Given the description of an element on the screen output the (x, y) to click on. 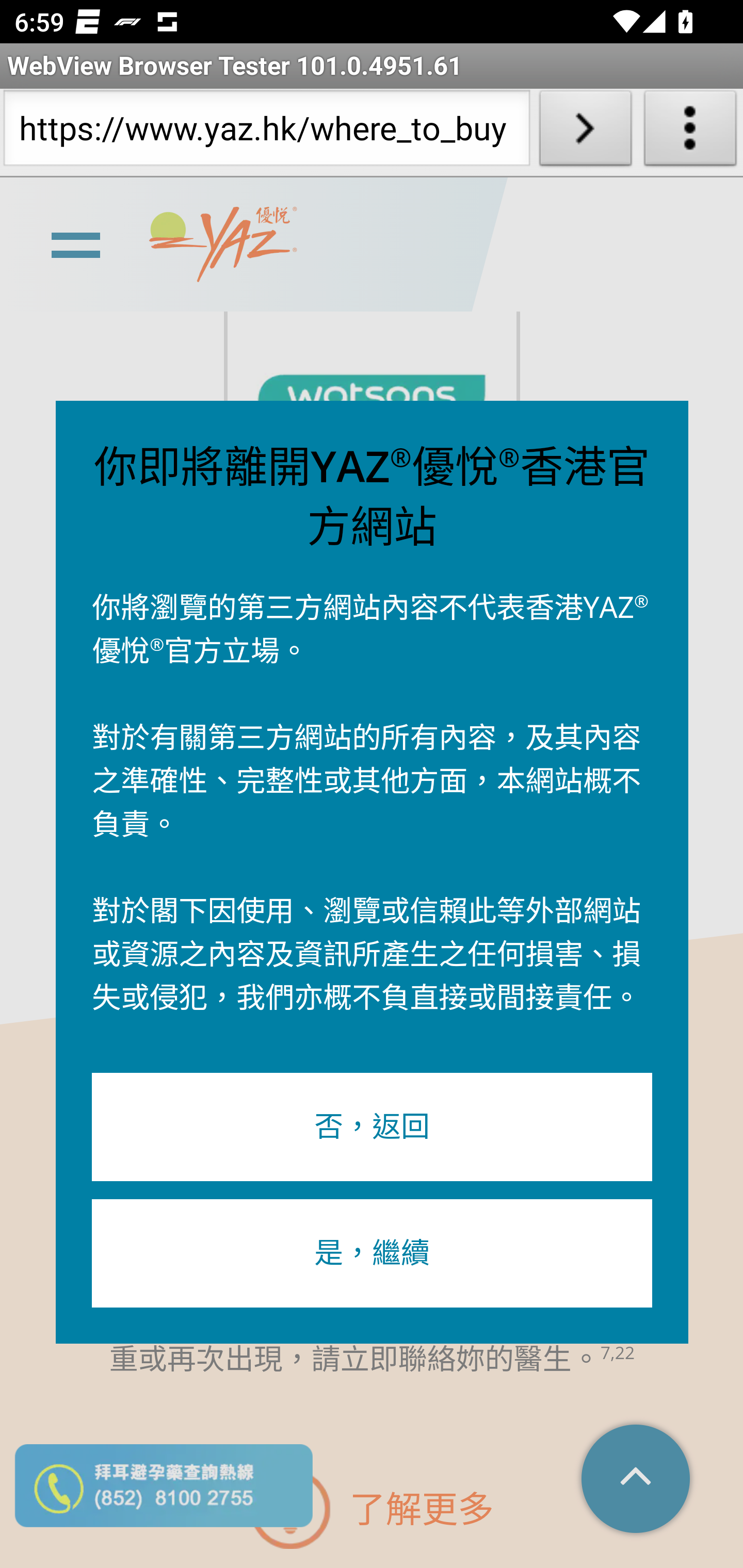
https://www.yaz.hk/where_to_buy (266, 132)
Load URL (585, 132)
About WebView (690, 132)
www.yaz (222, 244)
line Toggle burger menu (75, 243)
否，返回 (371, 1127)
是，繼續 (371, 1253)
 (636, 1480)
